Given the description of an element on the screen output the (x, y) to click on. 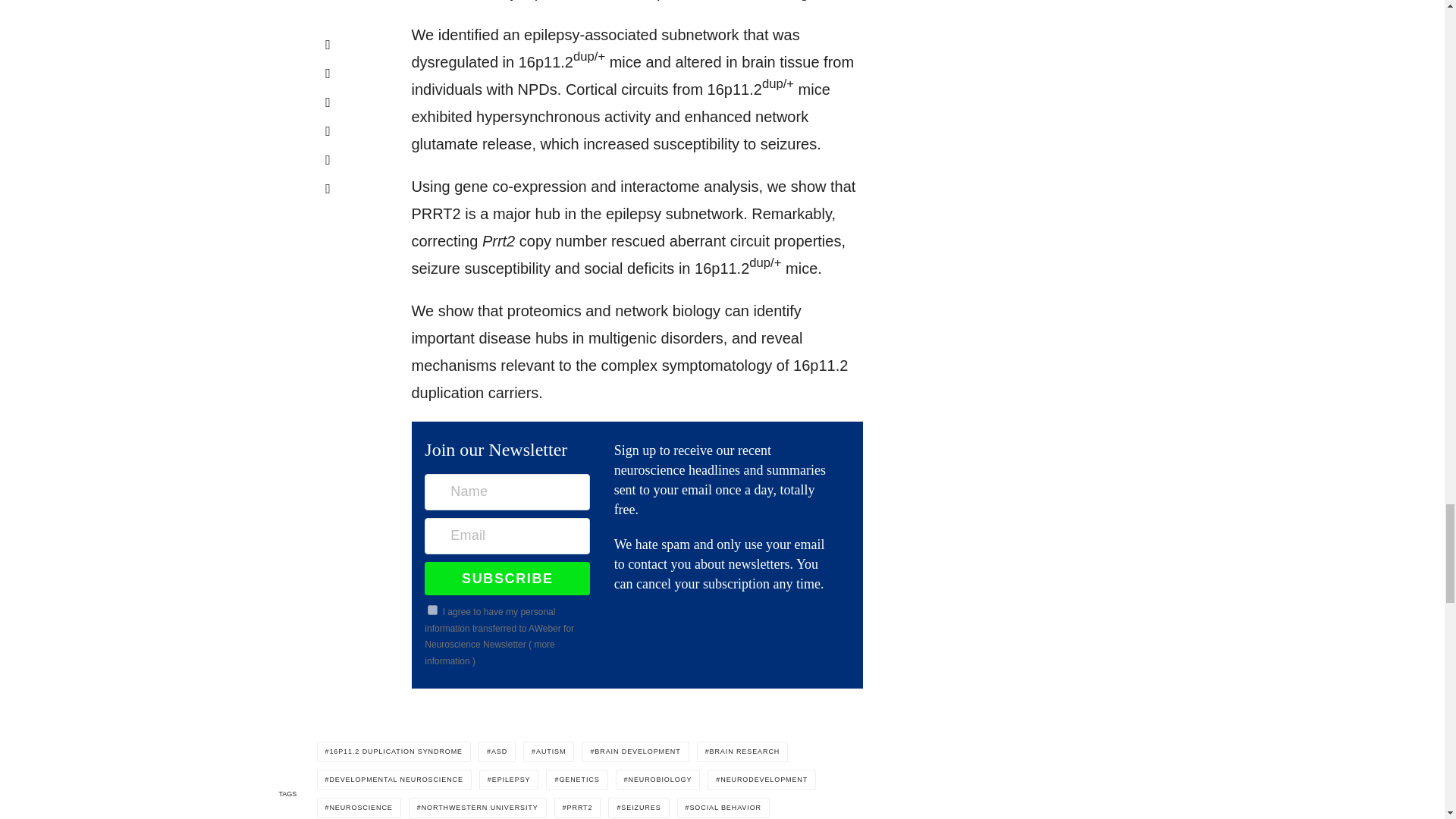
more information (489, 652)
GENETICS (576, 779)
EPILEPSY (508, 779)
SUBSCRIBE (507, 578)
AUTISM (547, 752)
SOCIAL BEHAVIOR (723, 807)
16P11.2 DUPLICATION SYNDROME (393, 752)
PRRT2 (577, 807)
NEUROBIOLOGY (657, 779)
SEIZURES (638, 807)
